Given the description of an element on the screen output the (x, y) to click on. 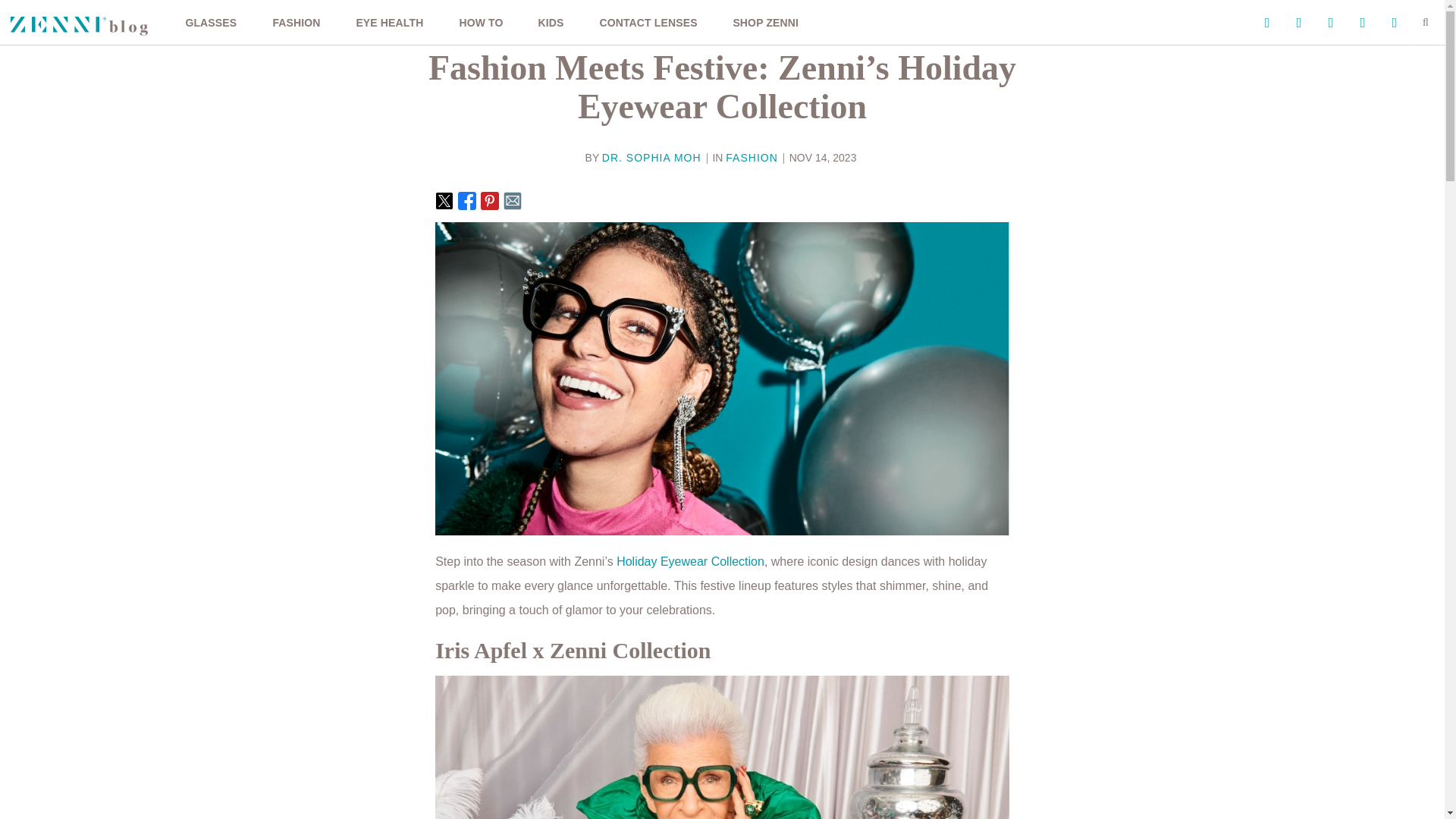
Holiday Eyewear Collection (689, 561)
HOW TO (480, 23)
SHOP ZENNI (765, 23)
FASHION (751, 157)
GLASSES (210, 23)
DR. SOPHIA MOH (651, 157)
KIDS (550, 23)
FASHION (296, 23)
Posts by Dr. Sophia Moh (651, 157)
EYE HEALTH (390, 23)
